Given the description of an element on the screen output the (x, y) to click on. 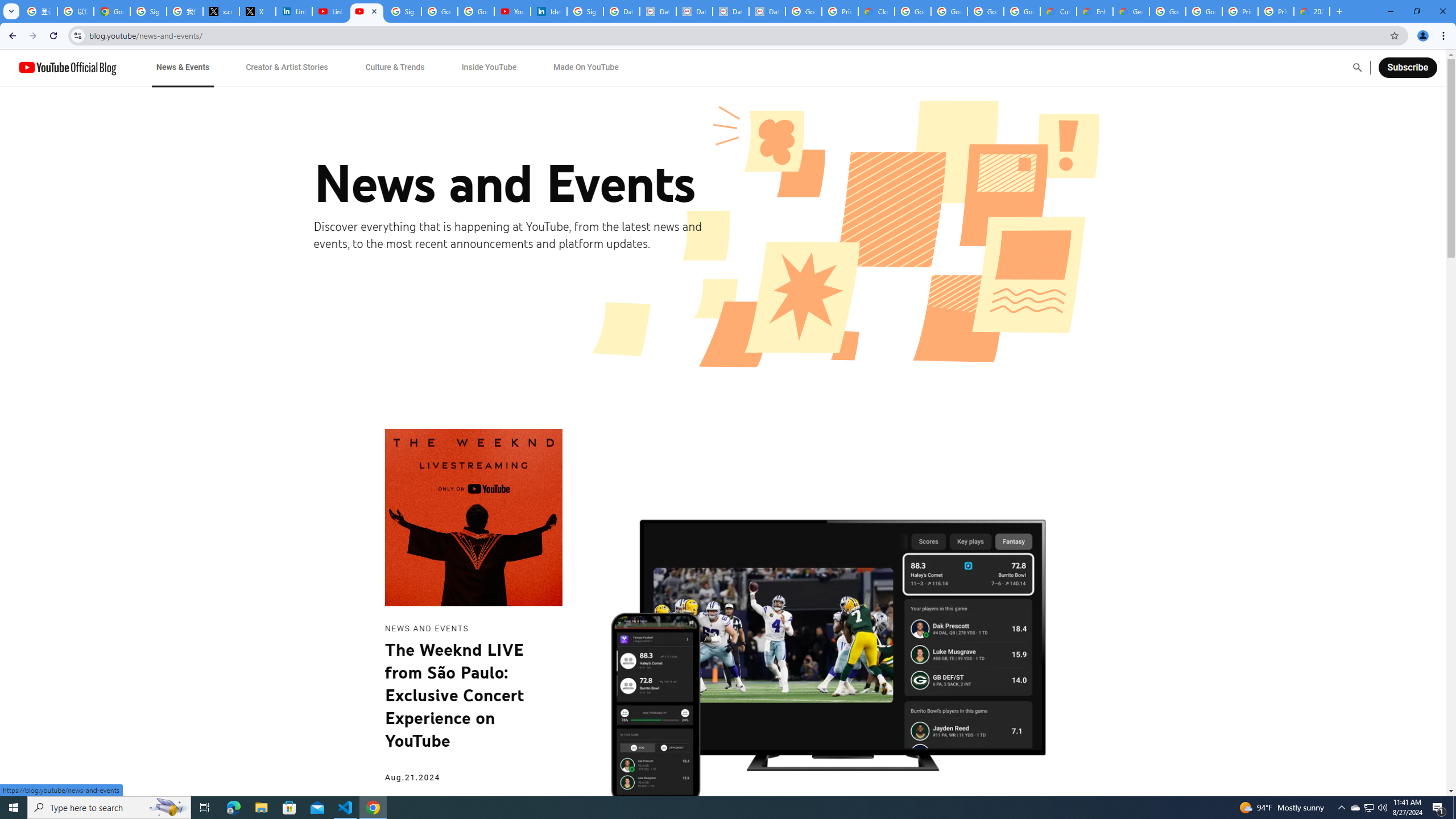
Gemini for Business and Developers | Google Cloud (1131, 11)
Open Search (1357, 67)
Made On YouTube (585, 67)
Cloud Data Processing Addendum | Google Cloud (876, 11)
Customer Care | Google Cloud (1058, 11)
Subscribe (1407, 67)
Inside YouTube (488, 67)
